Given the description of an element on the screen output the (x, y) to click on. 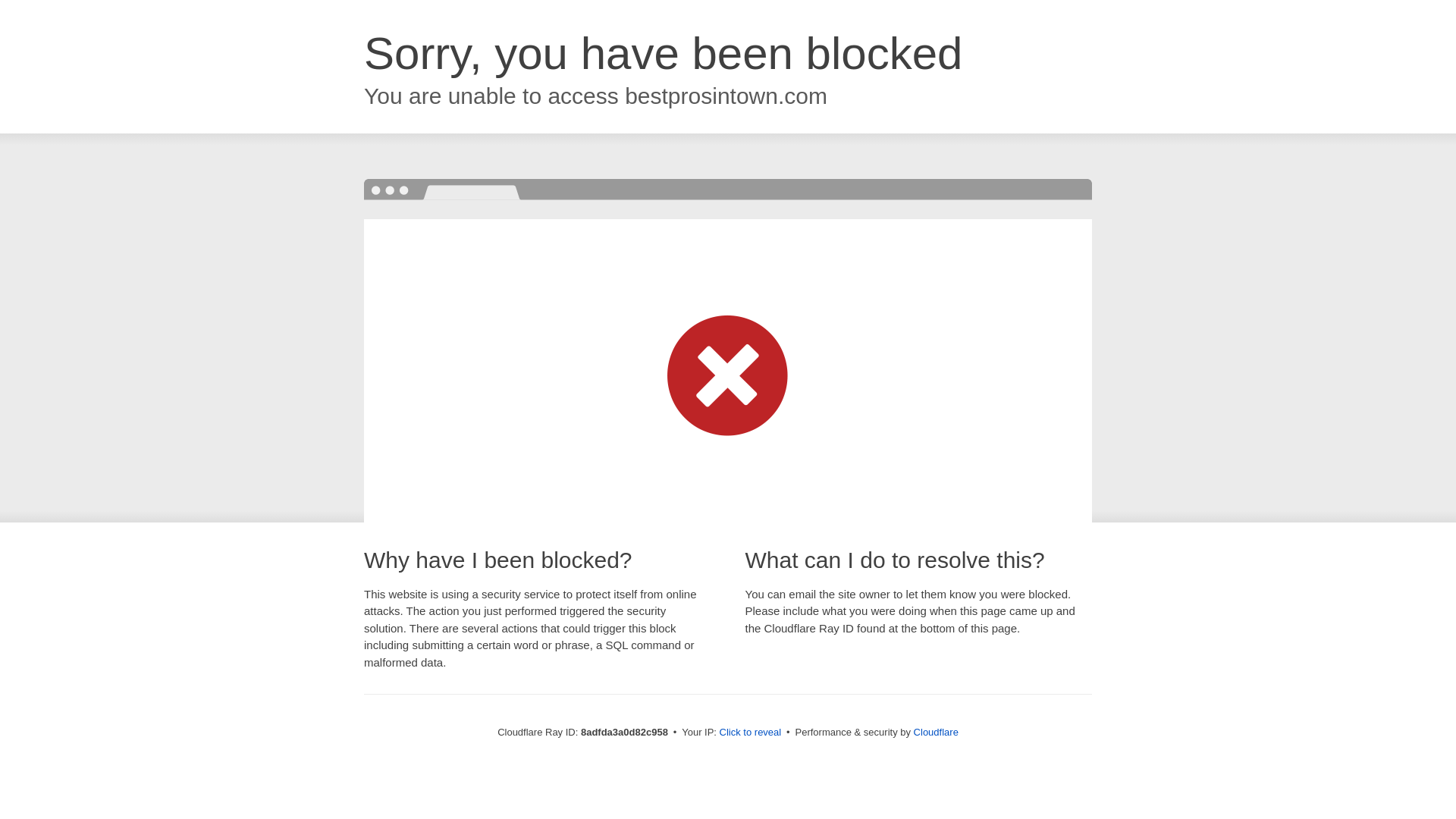
Cloudflare (936, 731)
Click to reveal (750, 732)
